Given the description of an element on the screen output the (x, y) to click on. 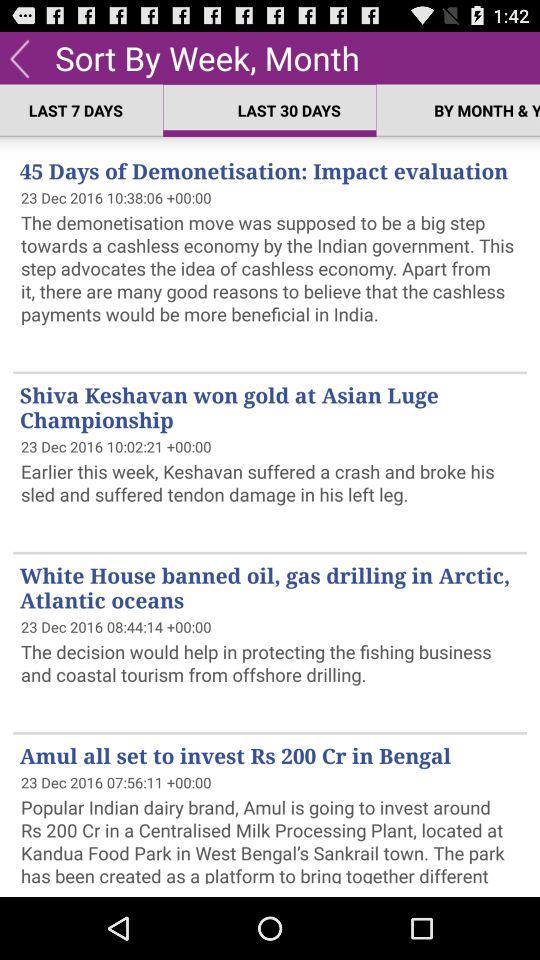
go to previous (19, 57)
